Given the description of an element on the screen output the (x, y) to click on. 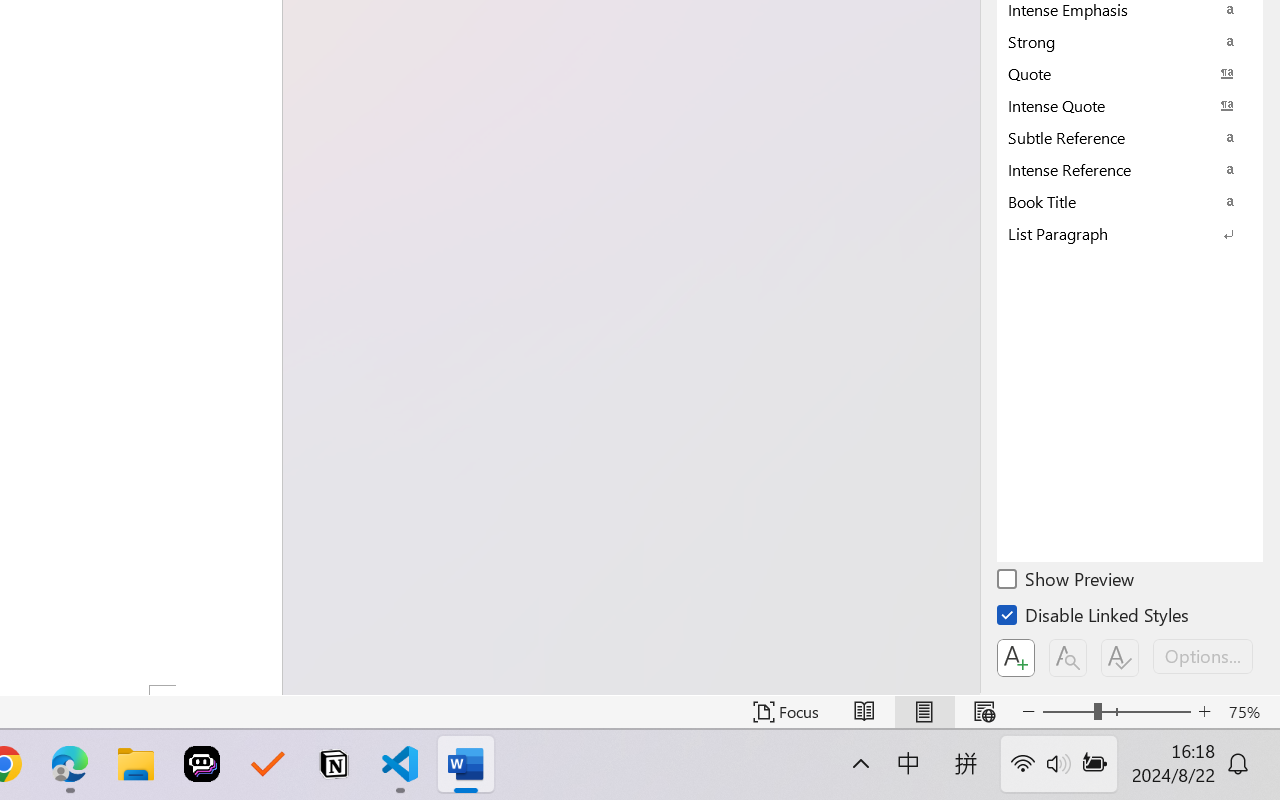
Strong (1130, 41)
Book Title (1130, 201)
